Given the description of an element on the screen output the (x, y) to click on. 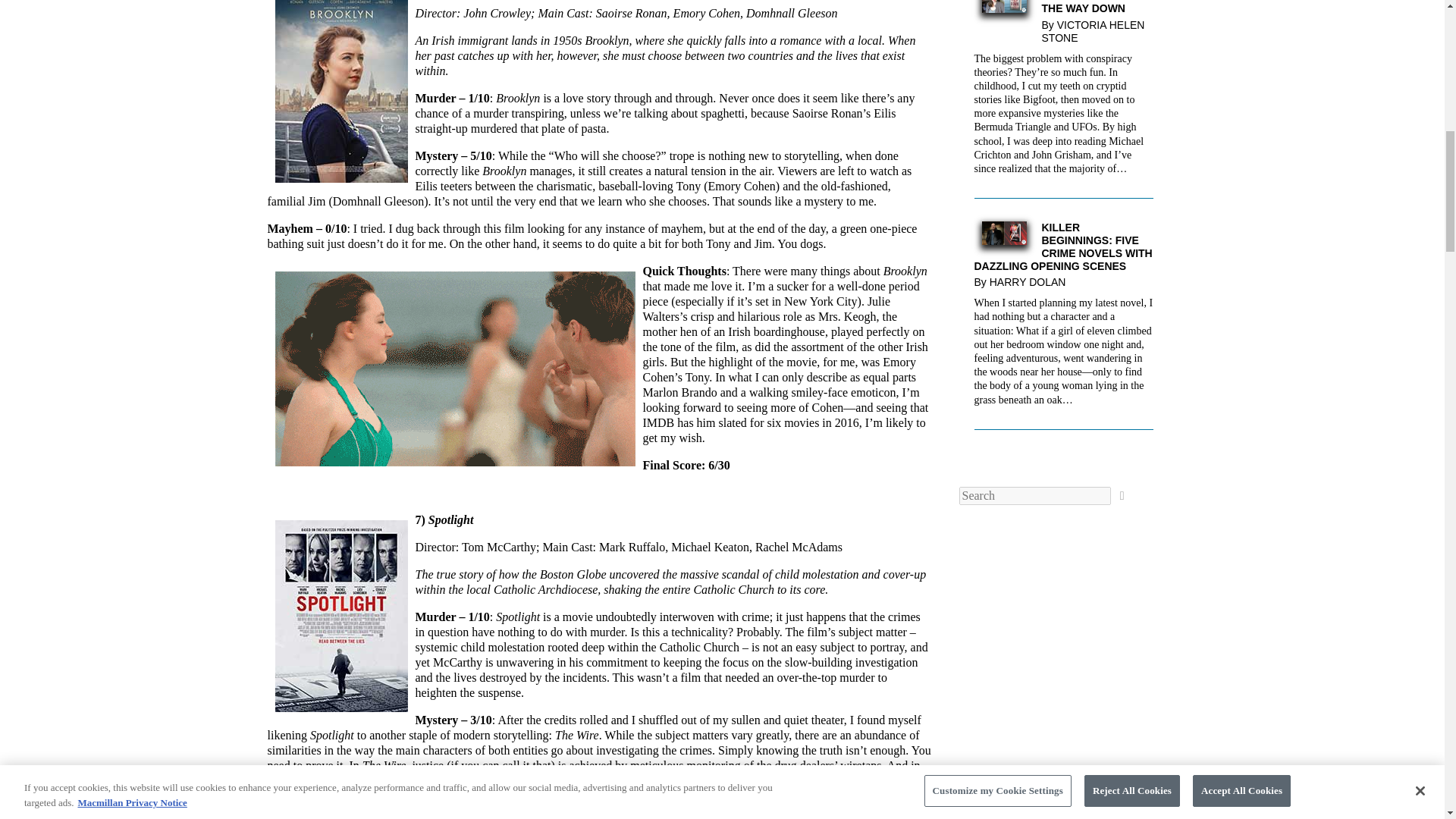
Harry Dolan (1032, 282)
Victoria Helen Stone (1093, 31)
Conspiracies All the Way Down (1003, 8)
Conspiracies All the Way Down (1063, 7)
